Given the description of an element on the screen output the (x, y) to click on. 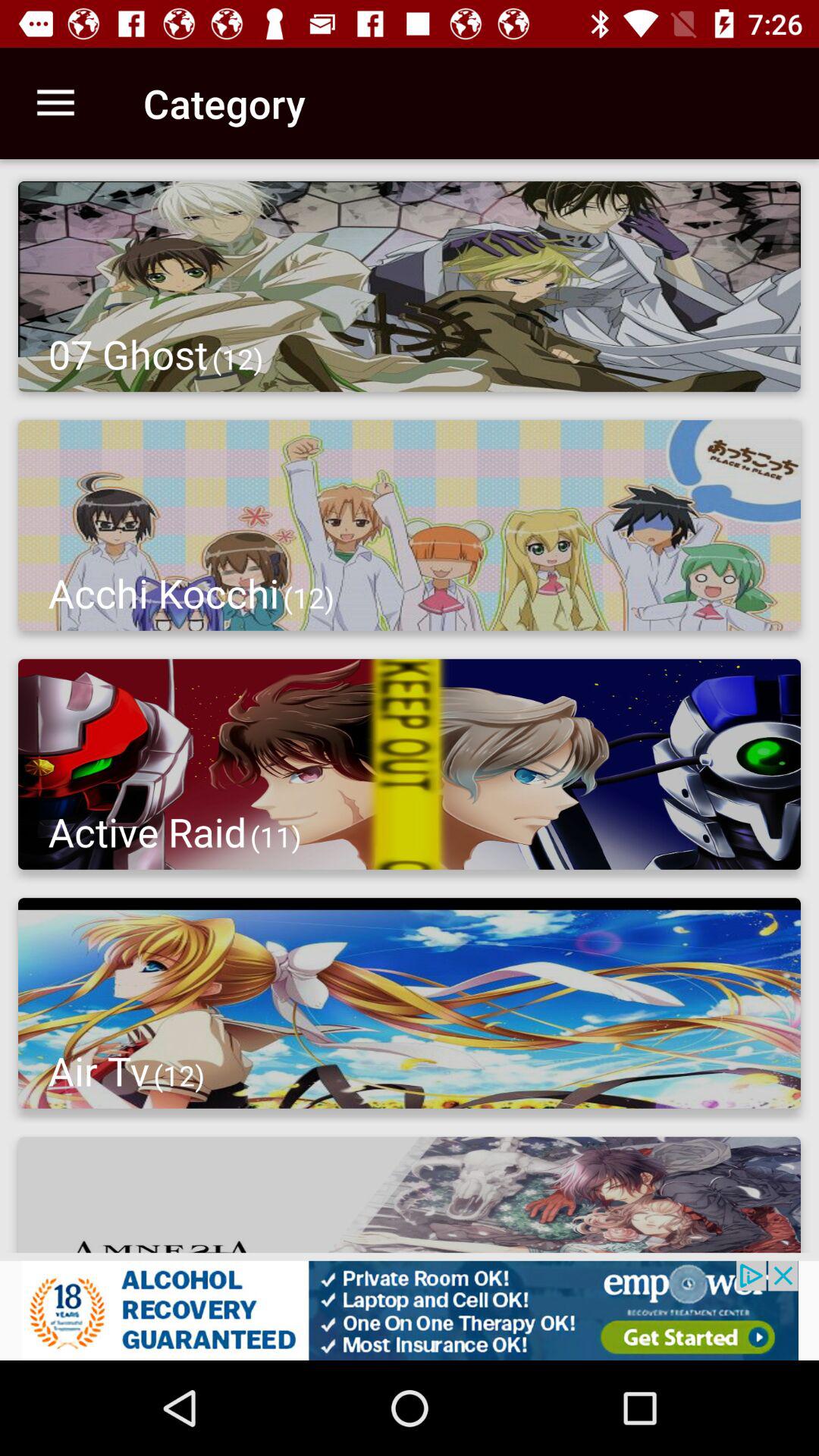
toggle advertisement optyion (409, 1310)
